Given the description of an element on the screen output the (x, y) to click on. 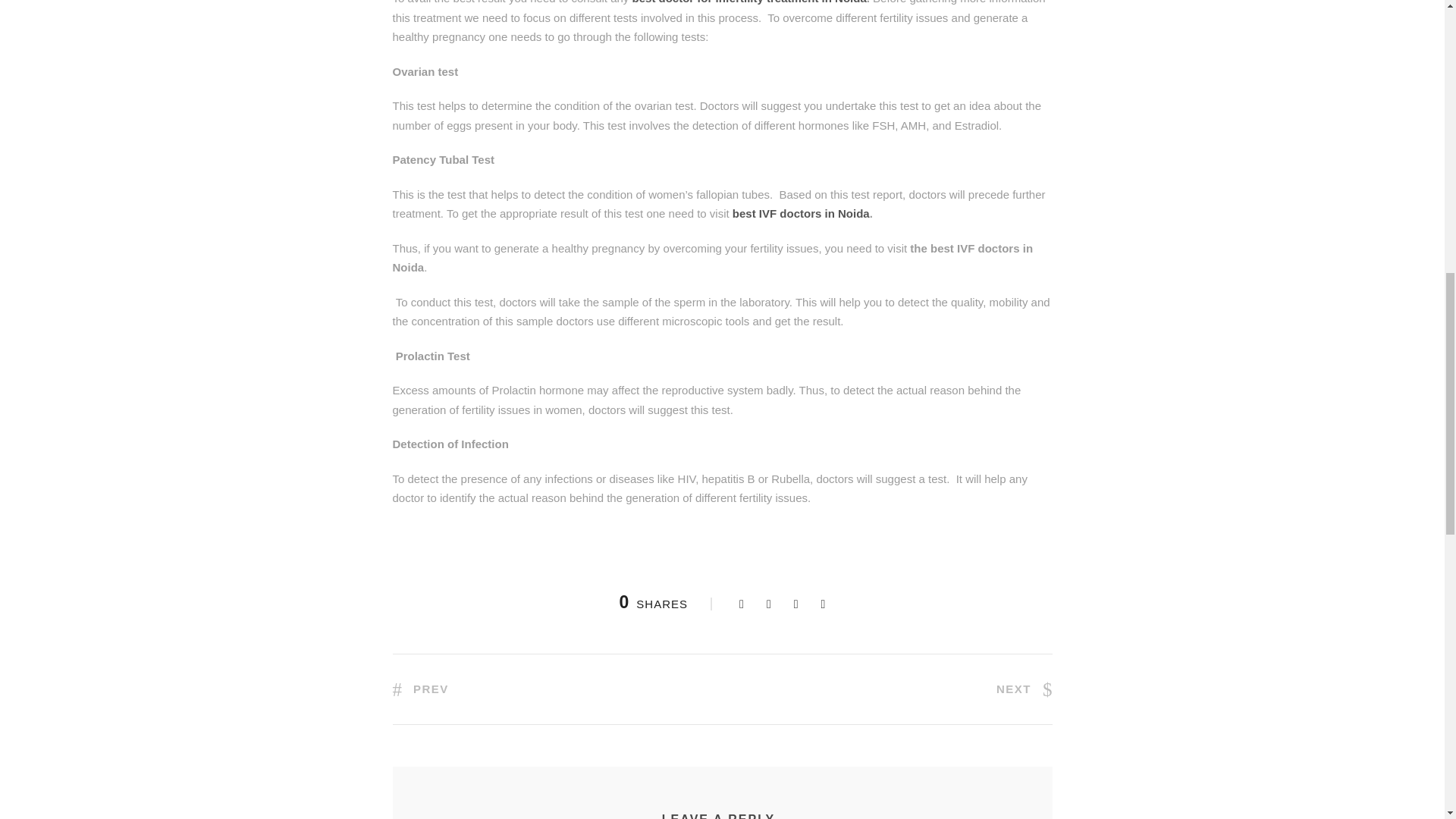
best doctor for infertility treatment in Noida (748, 2)
best IVF doctors in Noida (800, 213)
